Given the description of an element on the screen output the (x, y) to click on. 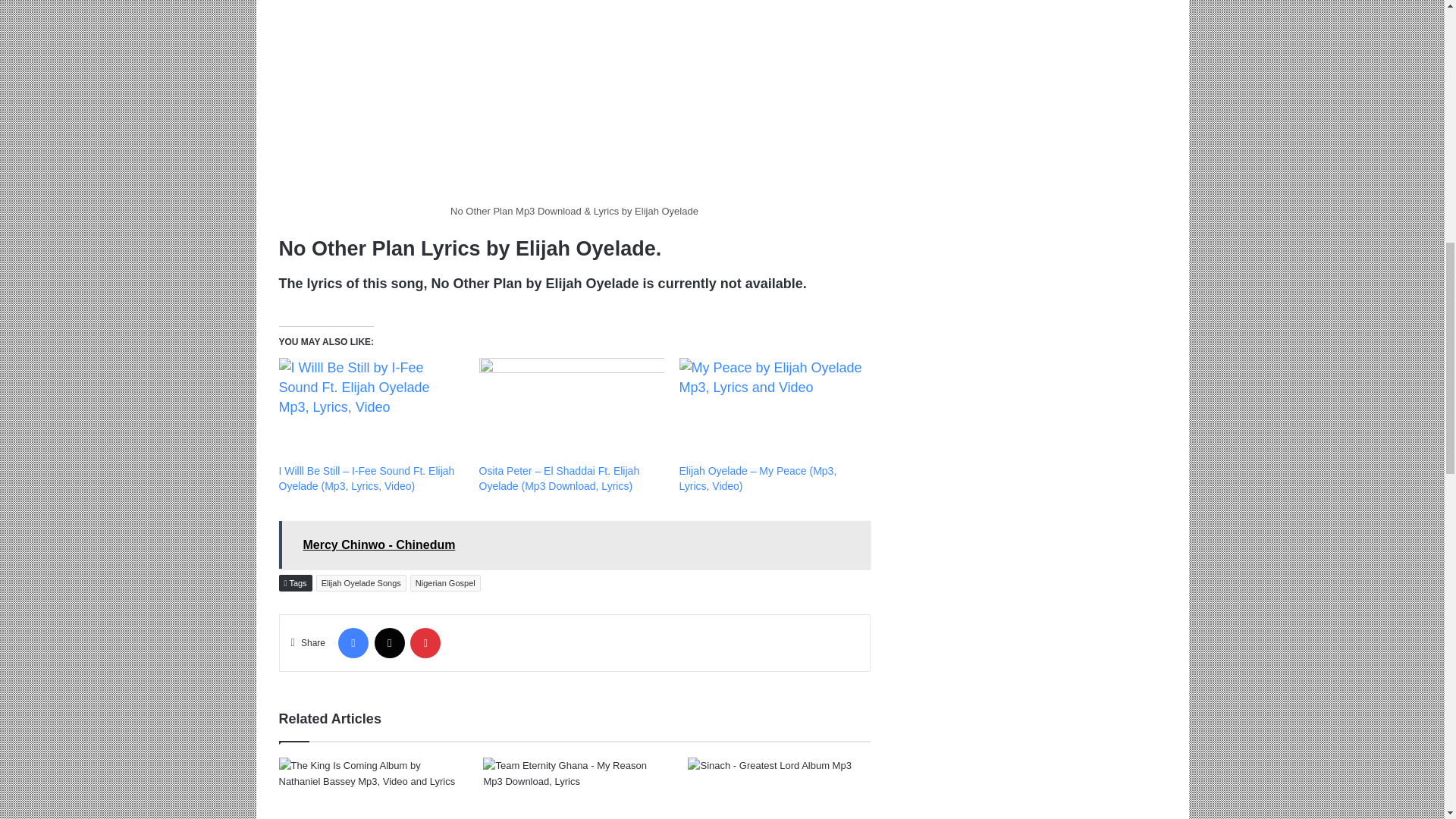
Facebook (352, 643)
X (389, 643)
NO OTHER PLAN.- ELIJAH OYELADE (574, 98)
Nigerian Gospel (445, 582)
Elijah Oyelade Songs (360, 582)
Pinterest (425, 643)
  Mercy Chinwo - Chinedum (574, 544)
